Given the description of an element on the screen output the (x, y) to click on. 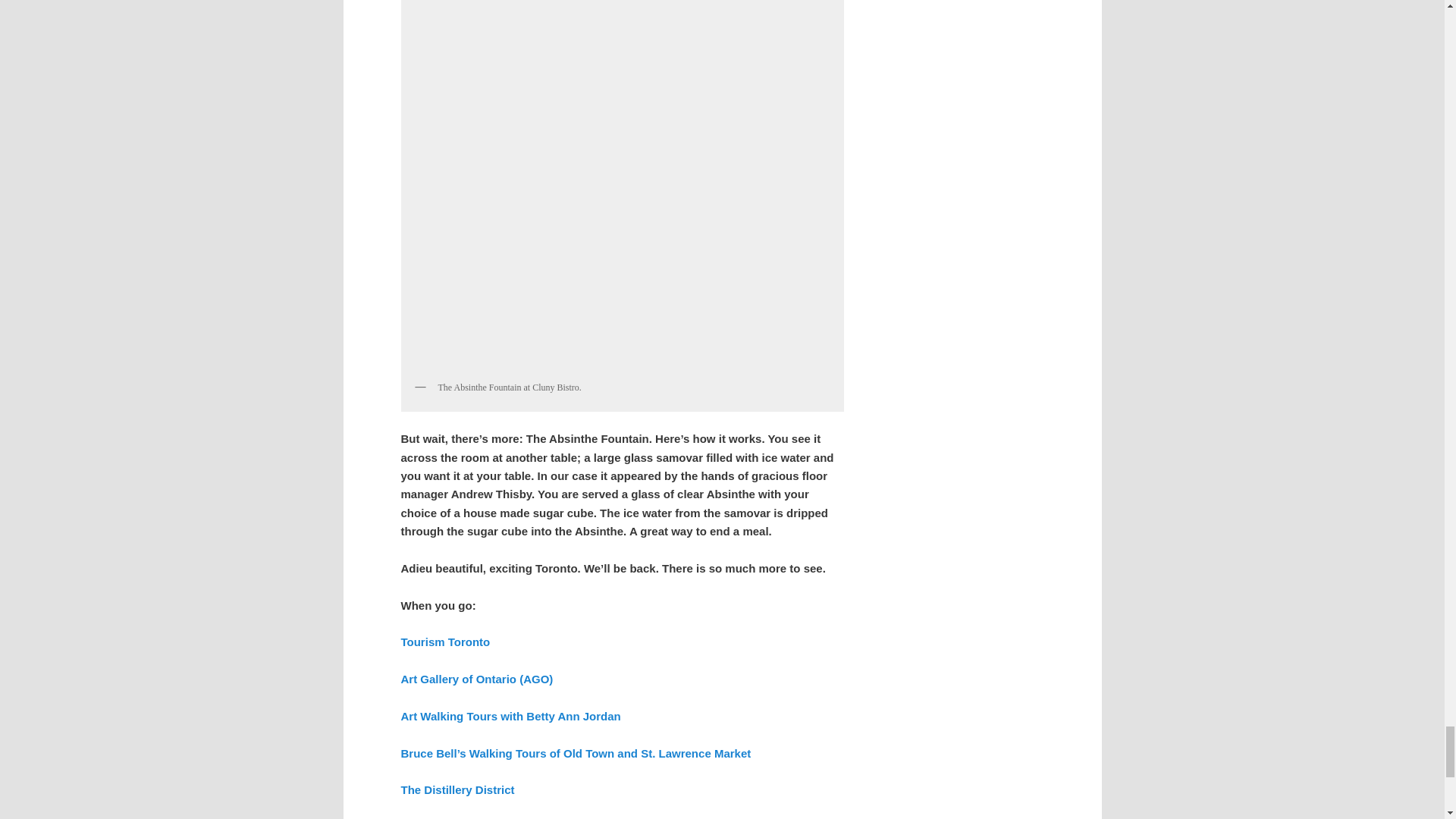
Art Walking Tours with Betty Ann Jordan (510, 716)
Tourism Toronto (444, 641)
The Distillery District (456, 789)
